Given the description of an element on the screen output the (x, y) to click on. 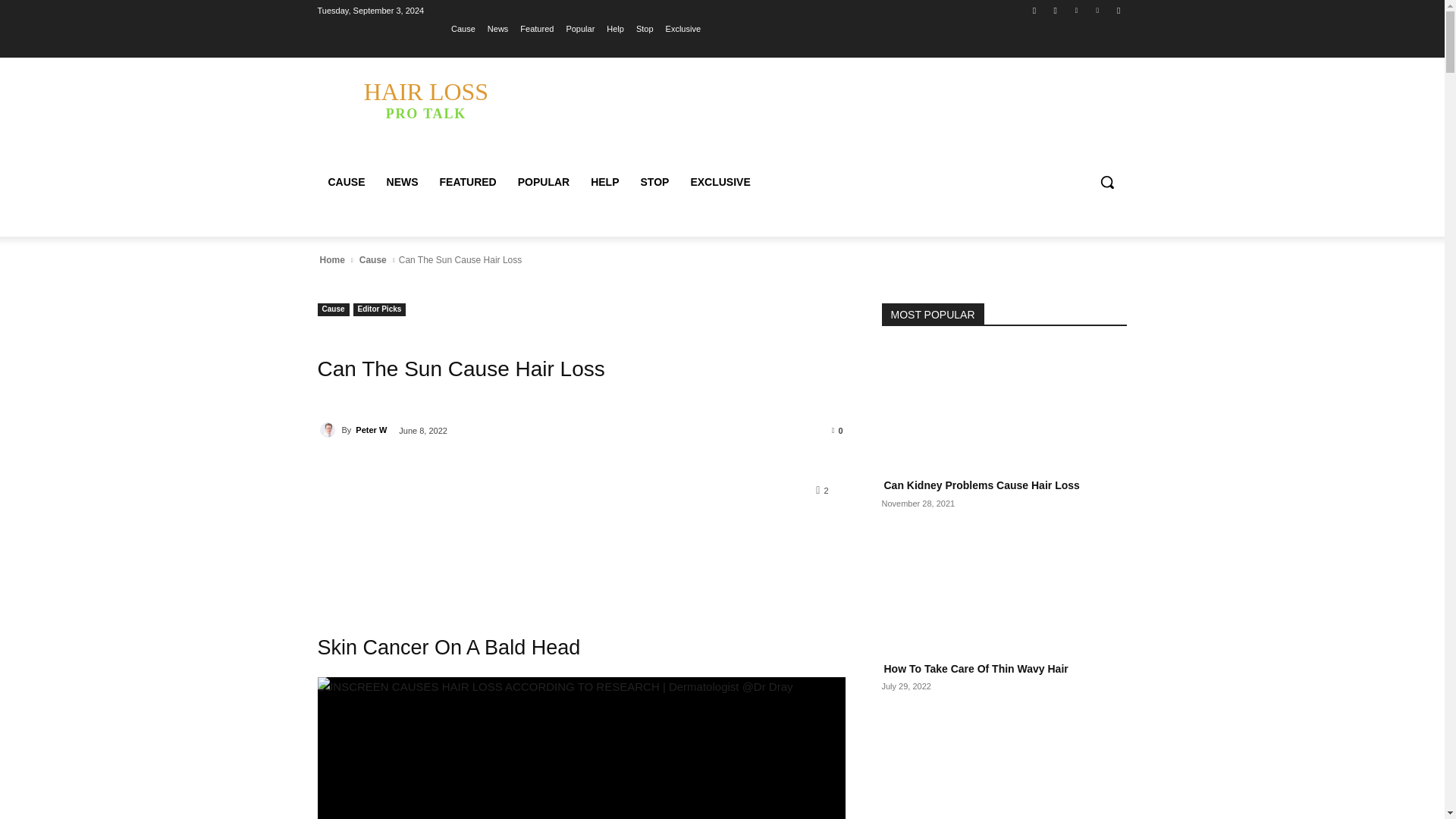
Home (331, 259)
Twitter (1075, 9)
News (497, 28)
HELP (603, 181)
Popular (580, 28)
Youtube (1117, 9)
STOP (653, 181)
View all posts in Cause (372, 259)
Vimeo (1097, 9)
Exclusive (682, 28)
